Given the description of an element on the screen output the (x, y) to click on. 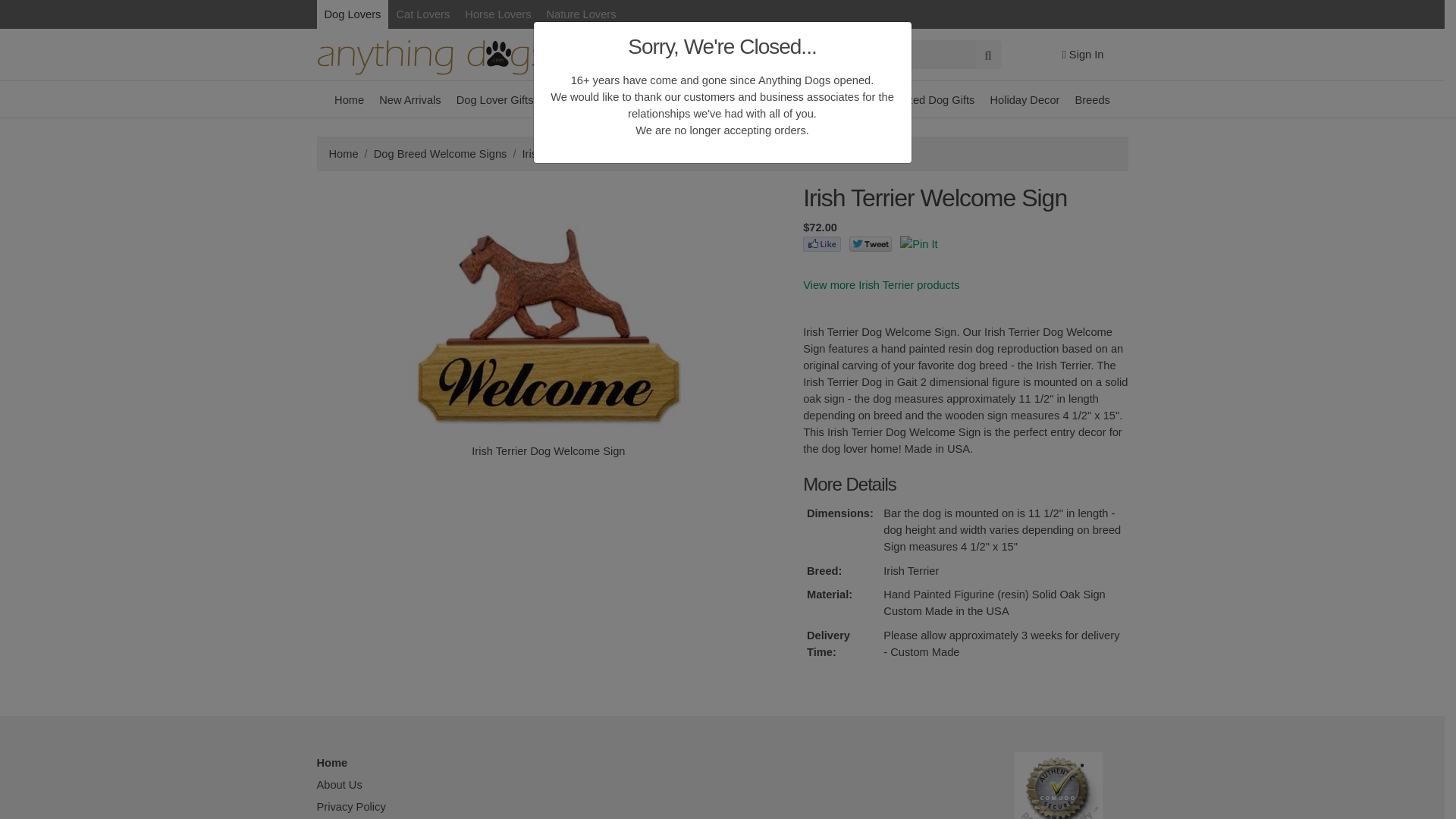
Dog Lovers (352, 14)
Home (348, 98)
Search (790, 54)
Horse Lovers (497, 14)
Dog Lover Home (590, 98)
Cat Lovers (422, 14)
Dog Lover Gifts (494, 98)
AnythingDogs.com (430, 54)
Dog Lover Home (590, 98)
Nature Lovers (580, 14)
Dog Lover Garden (693, 98)
Horse Lovers (497, 14)
New Arrivals (409, 98)
Home (348, 98)
Nature Lovers (580, 14)
